Given the description of an element on the screen output the (x, y) to click on. 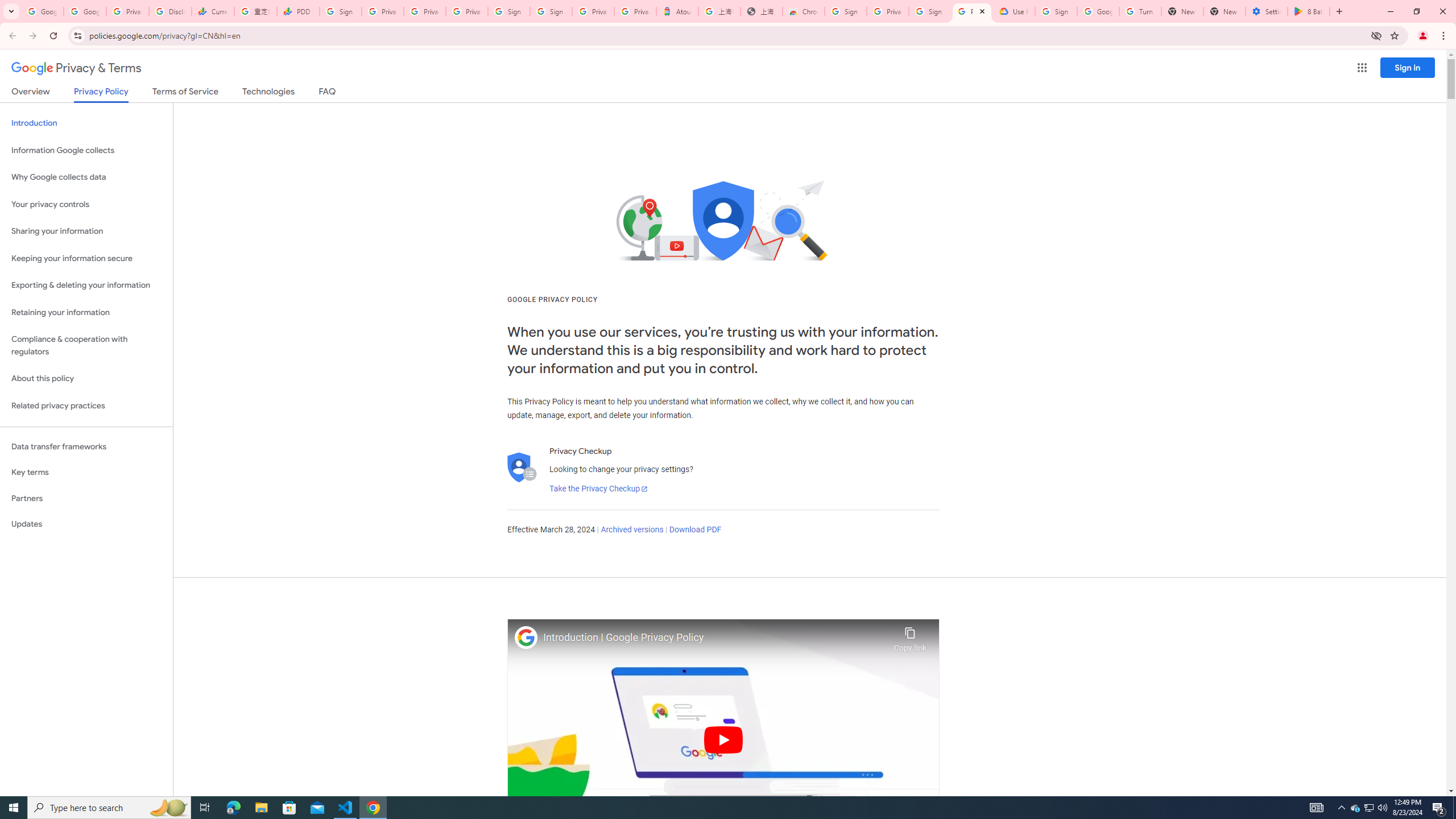
Google Workspace Admin Community (42, 11)
PDD Holdings Inc - ADR (PDD) Price & News - Google Finance (298, 11)
Chrome Web Store - Color themes by Chrome (803, 11)
Currencies - Google Finance (212, 11)
Google Account Help (1097, 11)
8 Ball Pool - Apps on Google Play (1308, 11)
Data transfer frameworks (86, 446)
Sign in - Google Accounts (1055, 11)
